Given the description of an element on the screen output the (x, y) to click on. 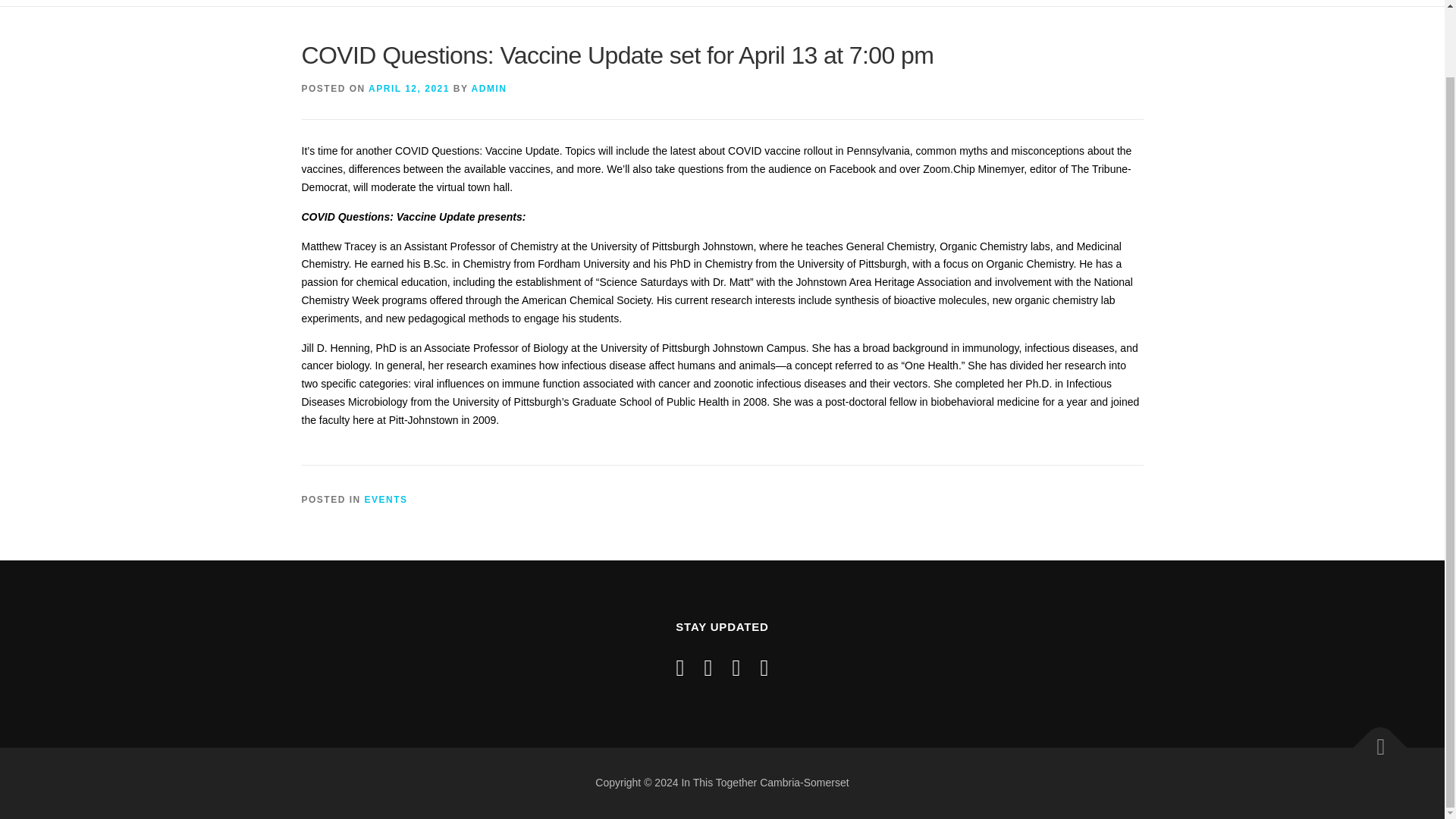
EVENTS (386, 499)
Back To Top (1372, 740)
ADMIN (488, 88)
APRIL 12, 2021 (408, 88)
